Given the description of an element on the screen output the (x, y) to click on. 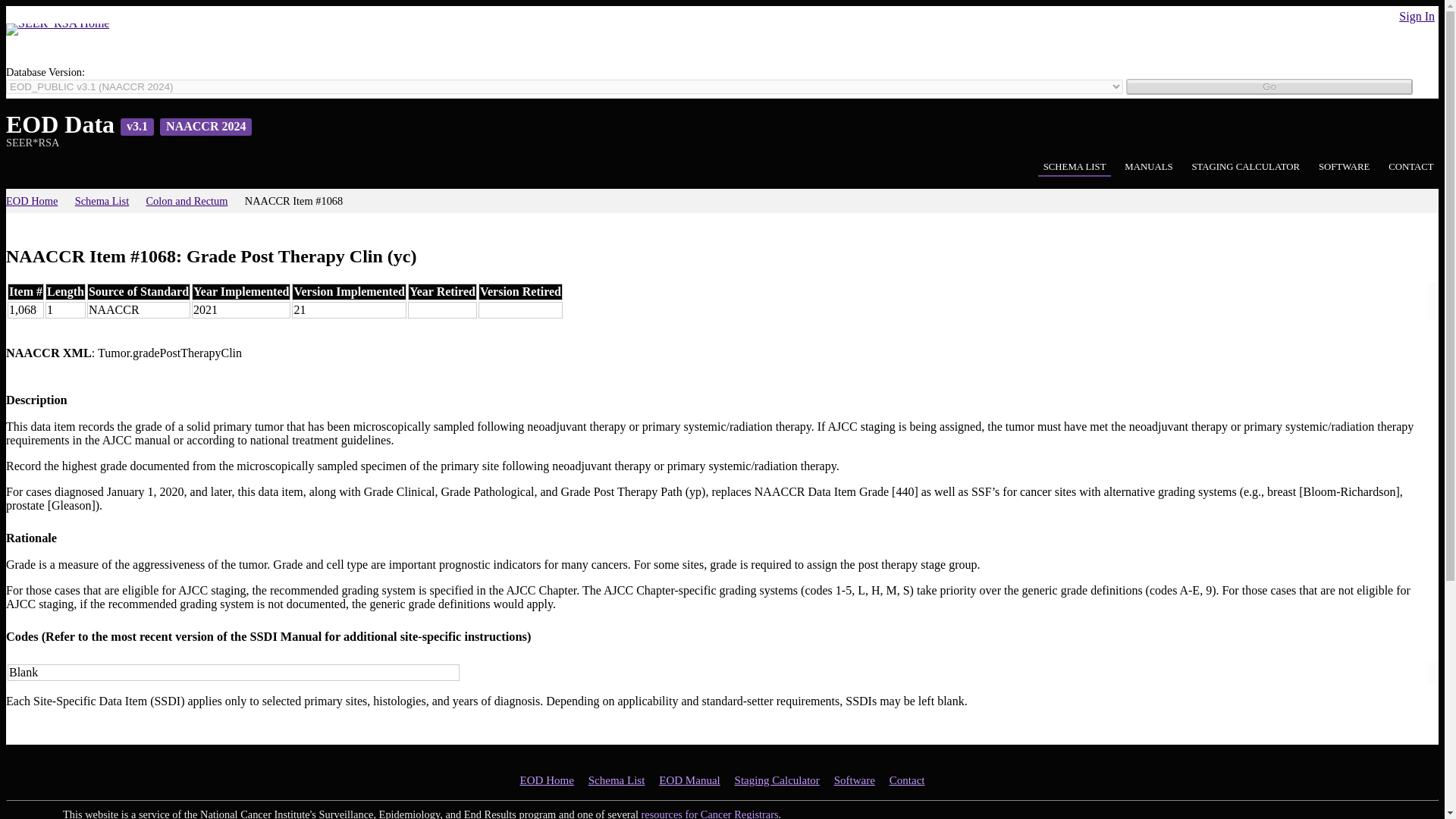
EOD Data v3.1 NAACCR 2024 (128, 124)
Staging Calculator (777, 779)
EOD Manual (689, 779)
Schema List (616, 779)
resources for Cancer Registrars (710, 813)
Schema List (107, 201)
MANUALS (1148, 167)
EOD Home (36, 201)
Contact (906, 779)
Software (854, 779)
STAGING CALCULATOR (1245, 167)
SOFTWARE (1343, 167)
Go (1268, 86)
Colon and Rectum (192, 201)
EOD Home (546, 779)
